Given the description of an element on the screen output the (x, y) to click on. 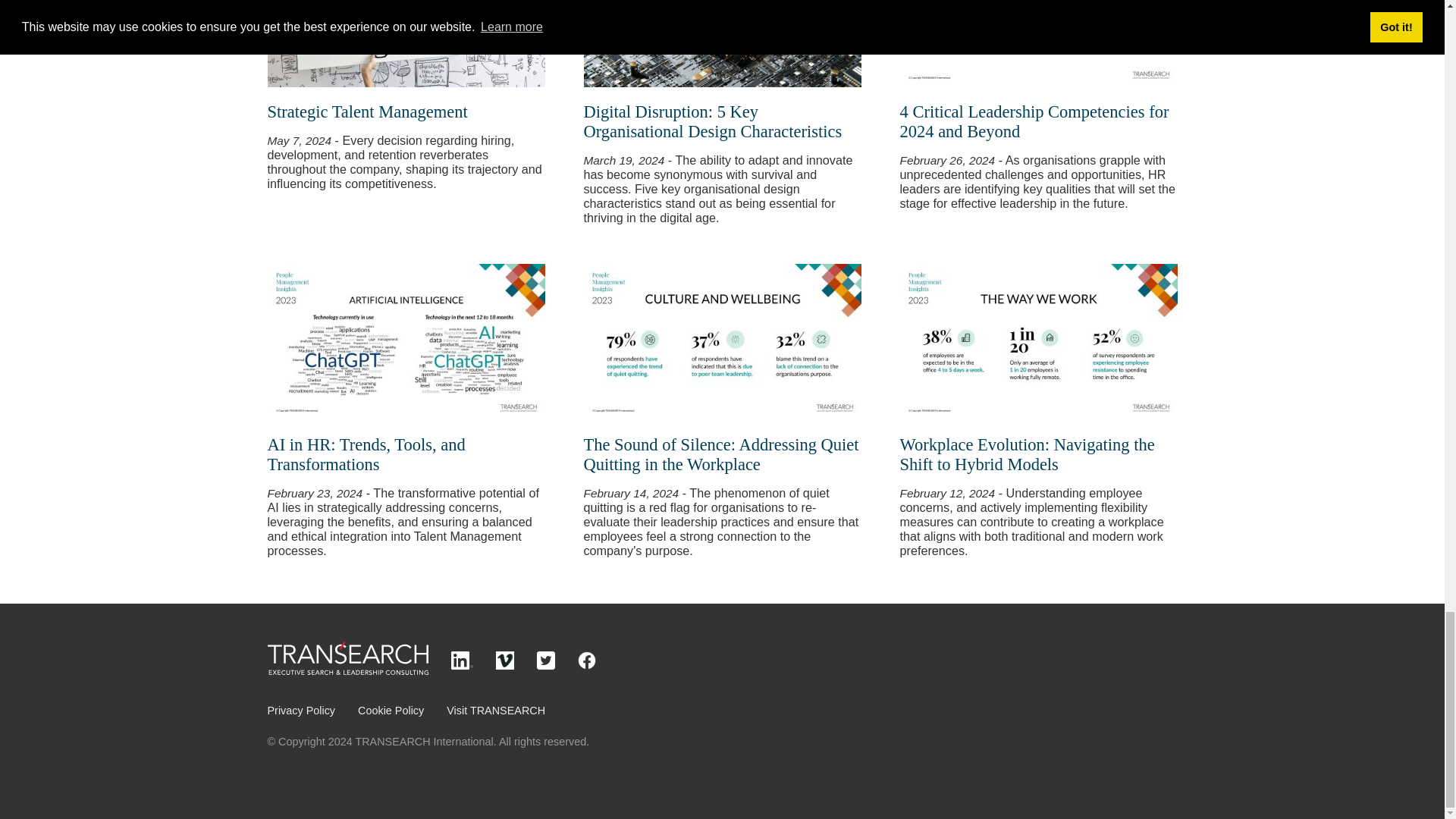
TRANSEARCH International on Twitter (545, 665)
Cookie Policy (390, 710)
Visit TRANSEARCH (495, 710)
TRANSEARCH International on Facebook (586, 665)
Login (280, 764)
TRANSEARCH International (347, 671)
